Given the description of an element on the screen output the (x, y) to click on. 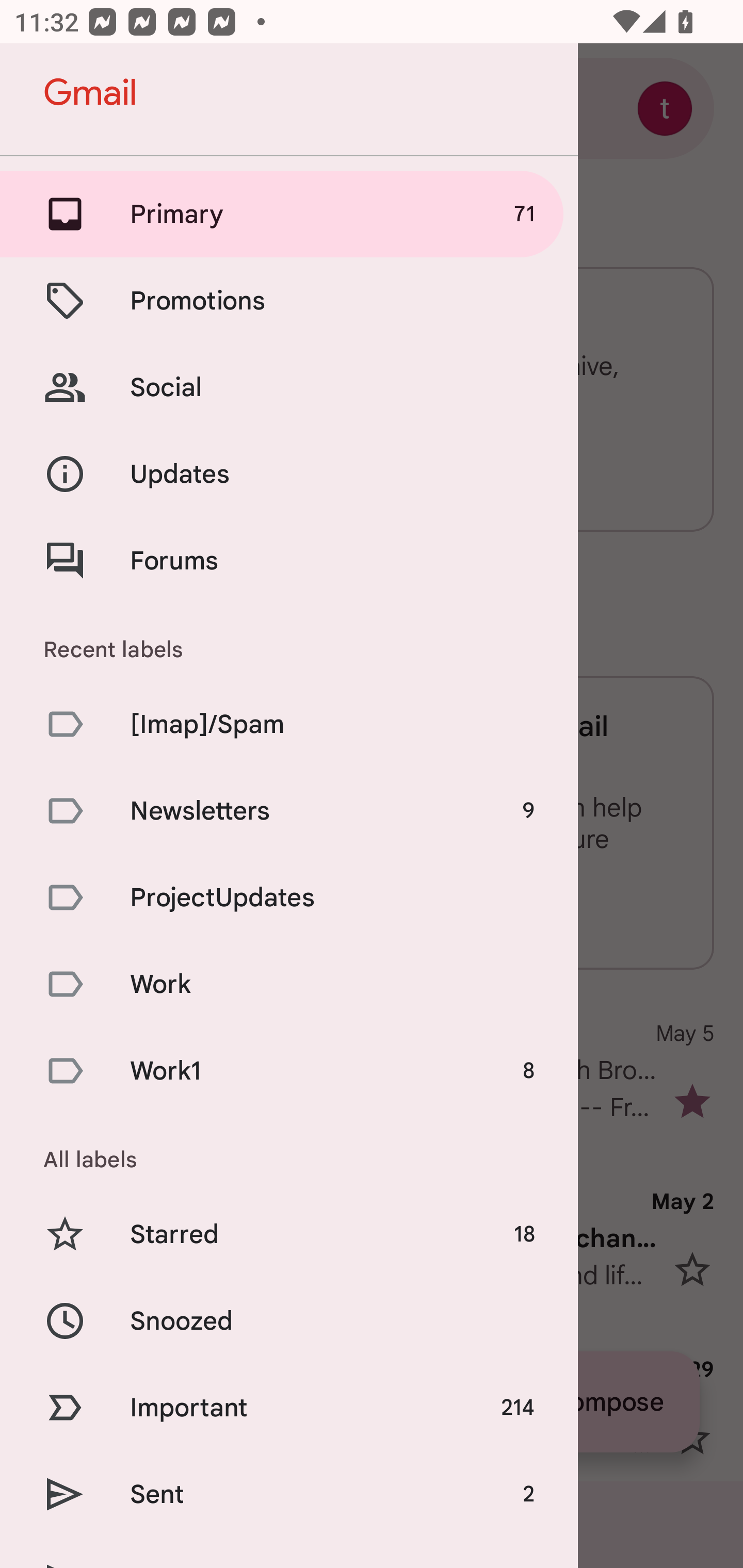
Primary 71 (289, 213)
Promotions (289, 300)
Social (289, 387)
Updates (289, 474)
Forums (289, 560)
[Imap]/Spam (289, 723)
Newsletters 9 (289, 810)
ProjectUpdates (289, 897)
Work (289, 983)
Work1 8 (289, 1070)
Starred 18 (289, 1234)
Snoozed (289, 1320)
Important 214 (289, 1407)
Sent 2 (289, 1494)
